Given the description of an element on the screen output the (x, y) to click on. 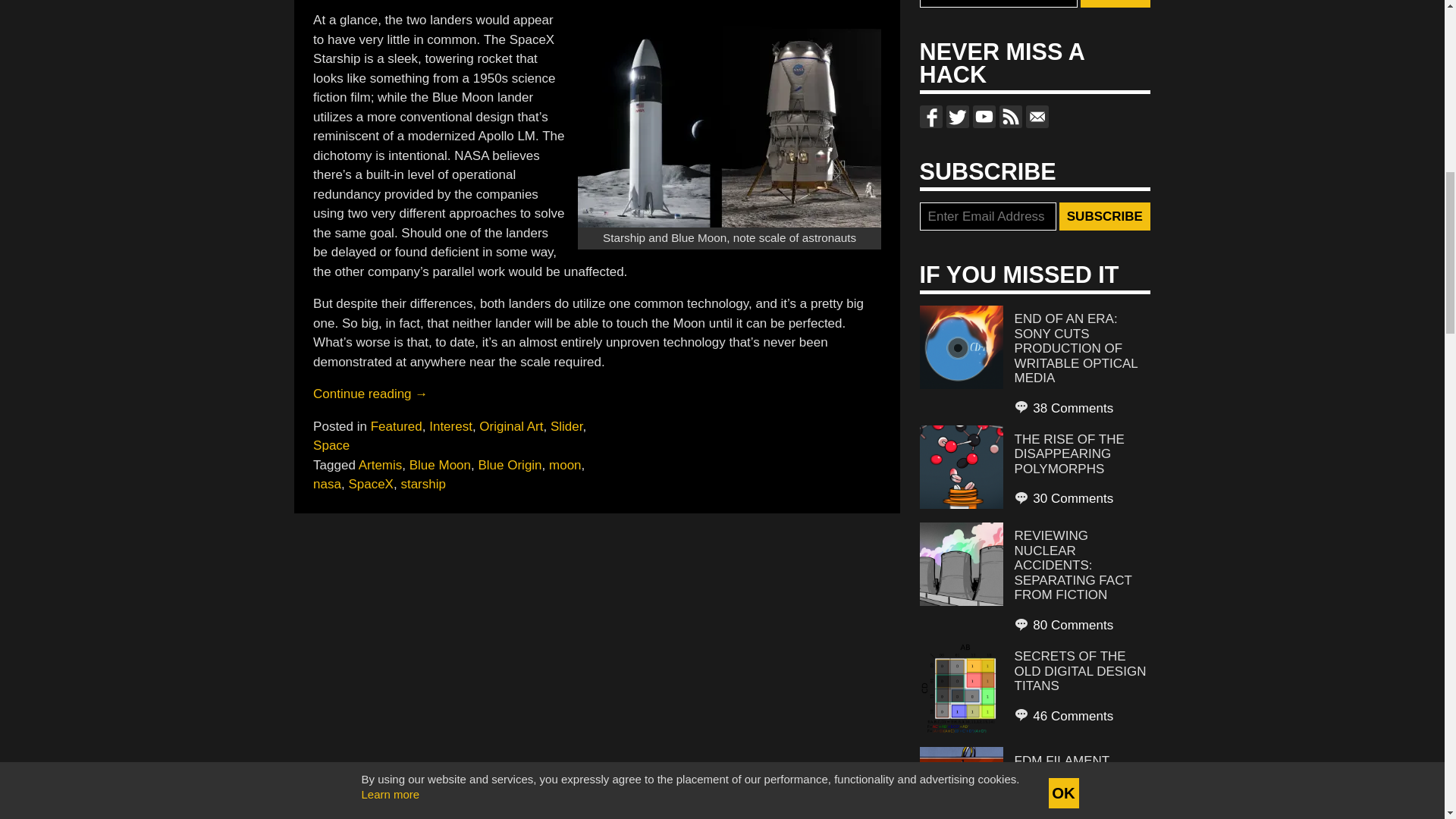
nasa (326, 483)
Original Art (511, 425)
Space (331, 445)
Featured (396, 425)
Search (1115, 4)
Slider (566, 425)
Blue Origin (509, 464)
SpaceX (370, 483)
moon (564, 464)
Blue Moon (439, 464)
Subscribe (1104, 216)
Interest (450, 425)
Search (1115, 4)
Artemis (380, 464)
starship (422, 483)
